Given the description of an element on the screen output the (x, y) to click on. 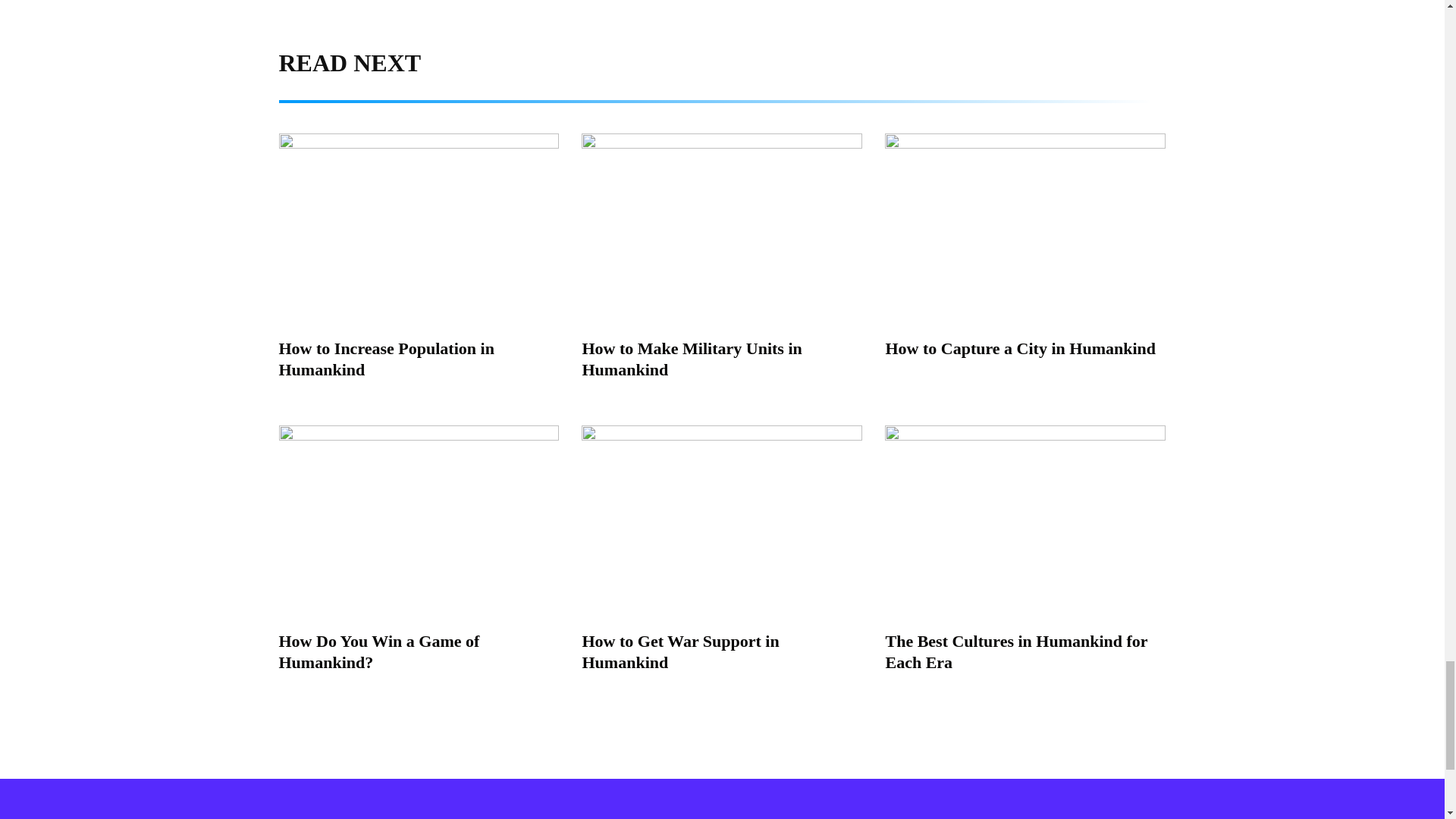
How to Increase Population in Humankind (387, 359)
How to Make Military Units in Humankind (691, 359)
